Given the description of an element on the screen output the (x, y) to click on. 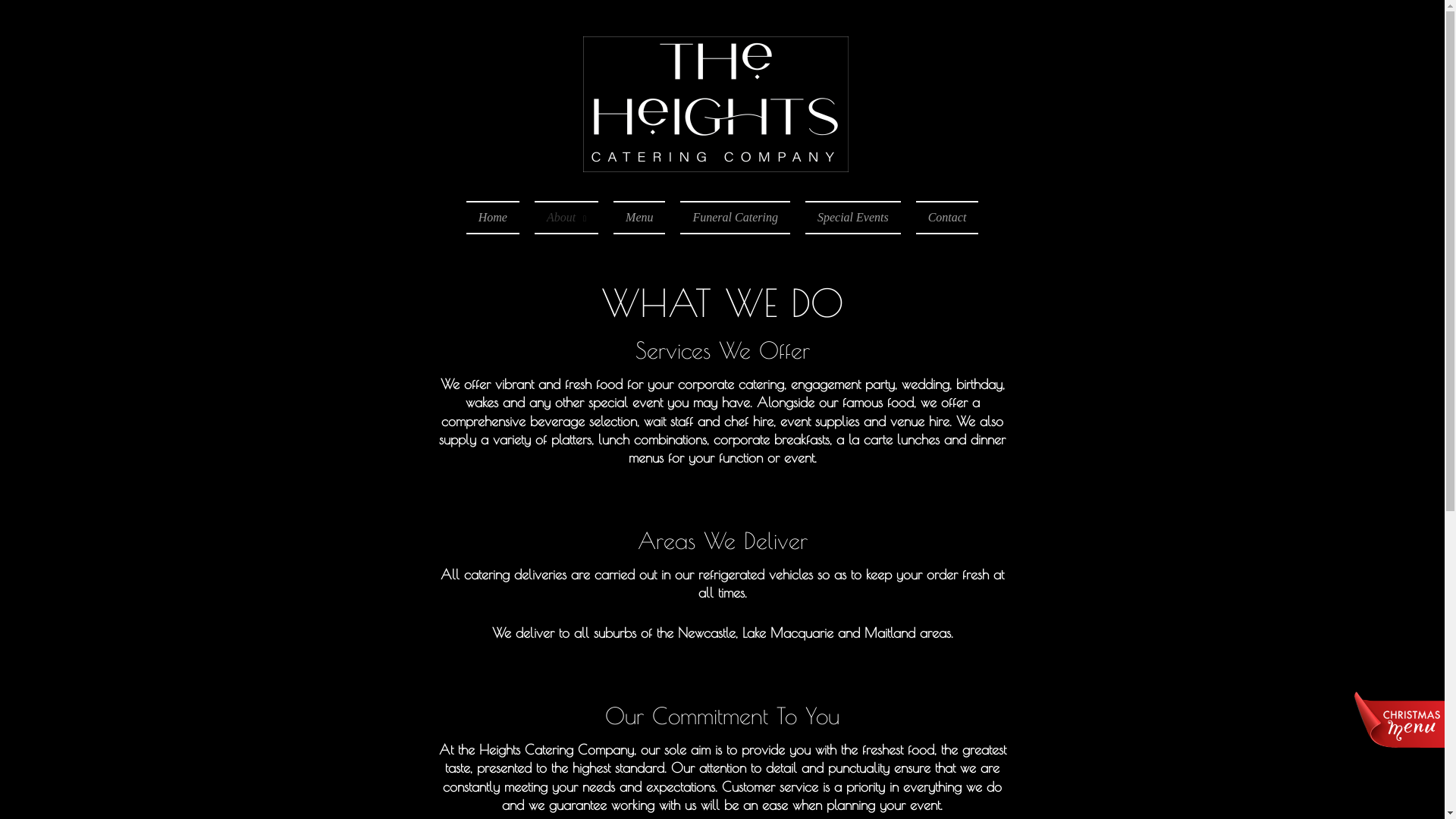
Funeral Catering Element type: text (734, 217)
Home Element type: text (492, 217)
Contact Element type: text (947, 217)
About Element type: text (566, 217)
Menu Element type: text (639, 217)
Special Events Element type: text (852, 217)
